Given the description of an element on the screen output the (x, y) to click on. 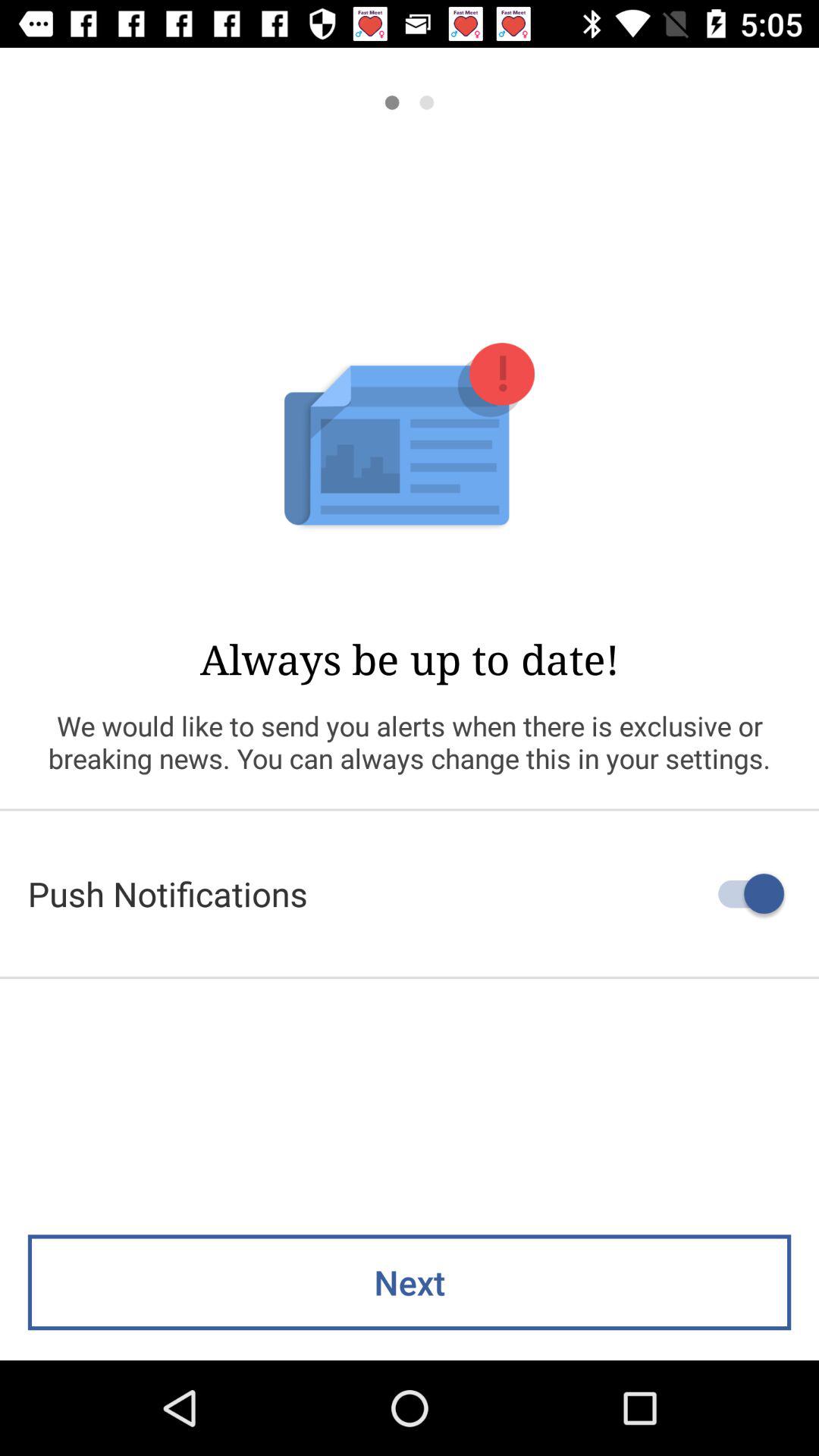
launch the next icon (409, 1282)
